Given the description of an element on the screen output the (x, y) to click on. 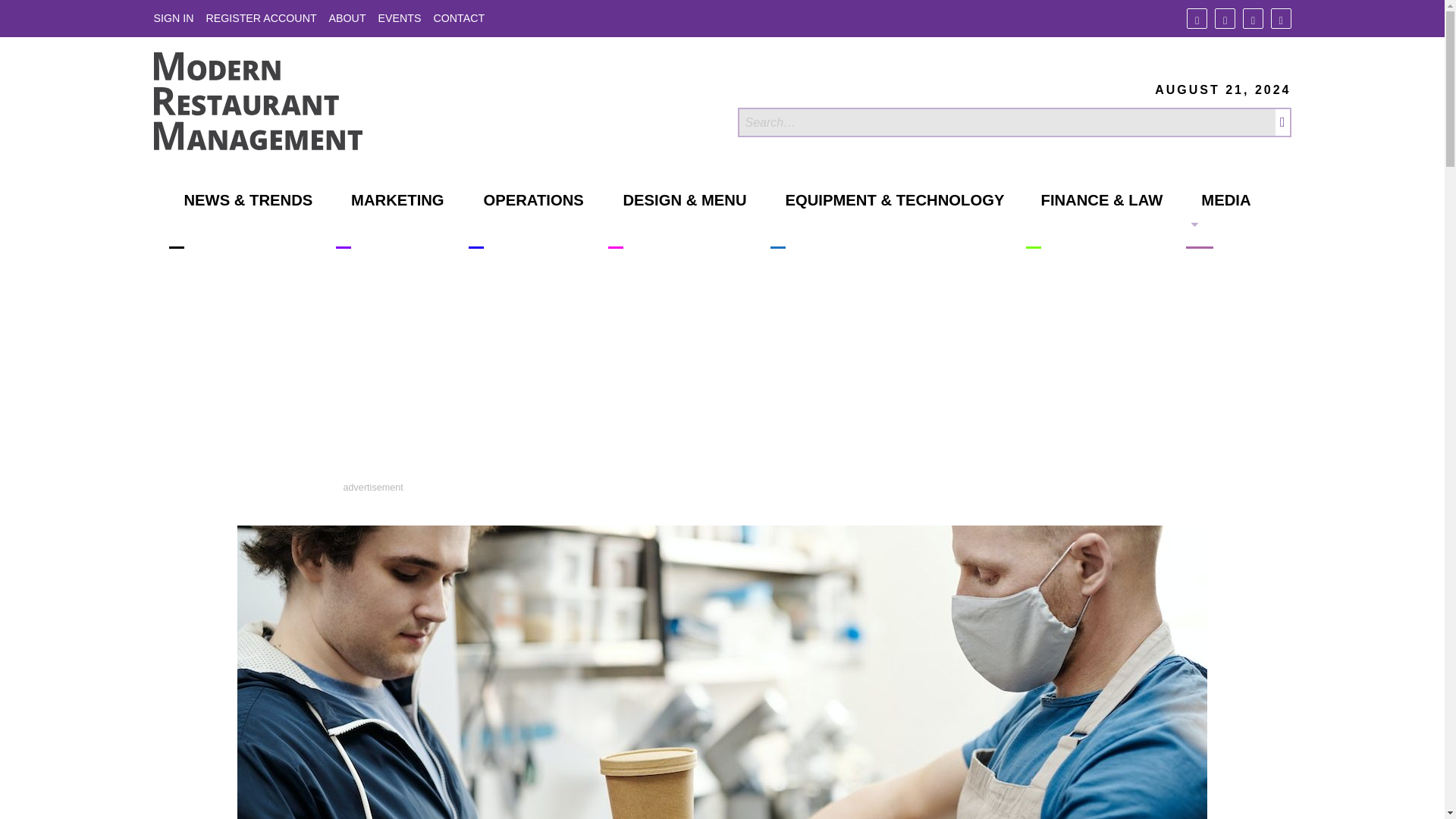
MEDIA (1218, 219)
Linkedin (1253, 18)
OPERATIONS (525, 219)
REGISTER ACCOUNT (260, 18)
Twitter (1224, 18)
MARKETING (390, 219)
SIGN IN (172, 18)
ABOUT (347, 18)
CONTACT (458, 18)
Search (1005, 122)
